Given the description of an element on the screen output the (x, y) to click on. 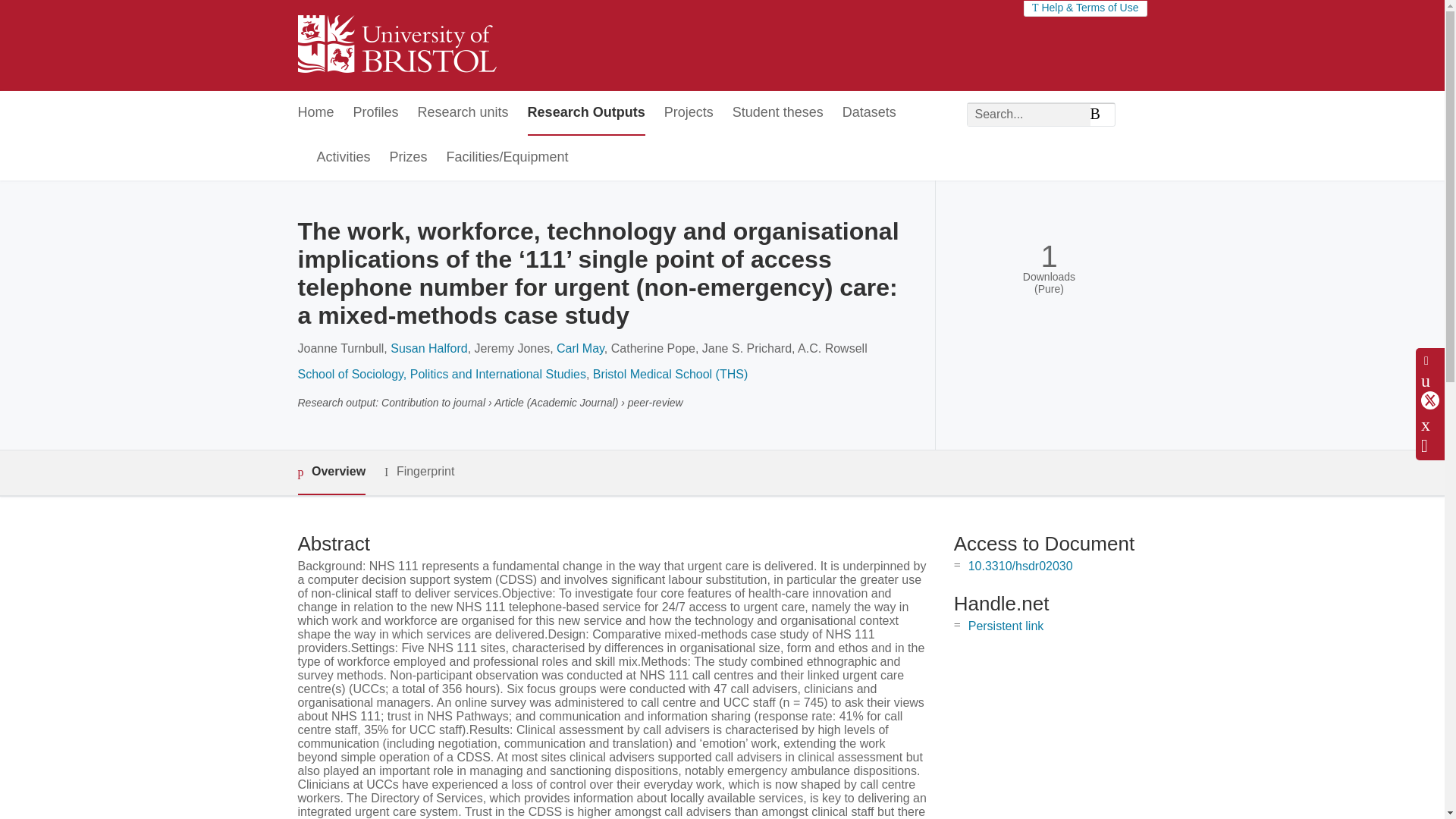
Research Outputs (586, 112)
Profiles (375, 112)
Research units (462, 112)
Projects (688, 112)
Overview (331, 472)
University of Bristol Home (396, 45)
Student theses (778, 112)
Activities (344, 157)
School of Sociology, Politics and International Studies (441, 373)
Fingerprint (419, 471)
Persistent link (1005, 625)
Susan Halford (428, 348)
Datasets (869, 112)
Carl May (580, 348)
